Given the description of an element on the screen output the (x, y) to click on. 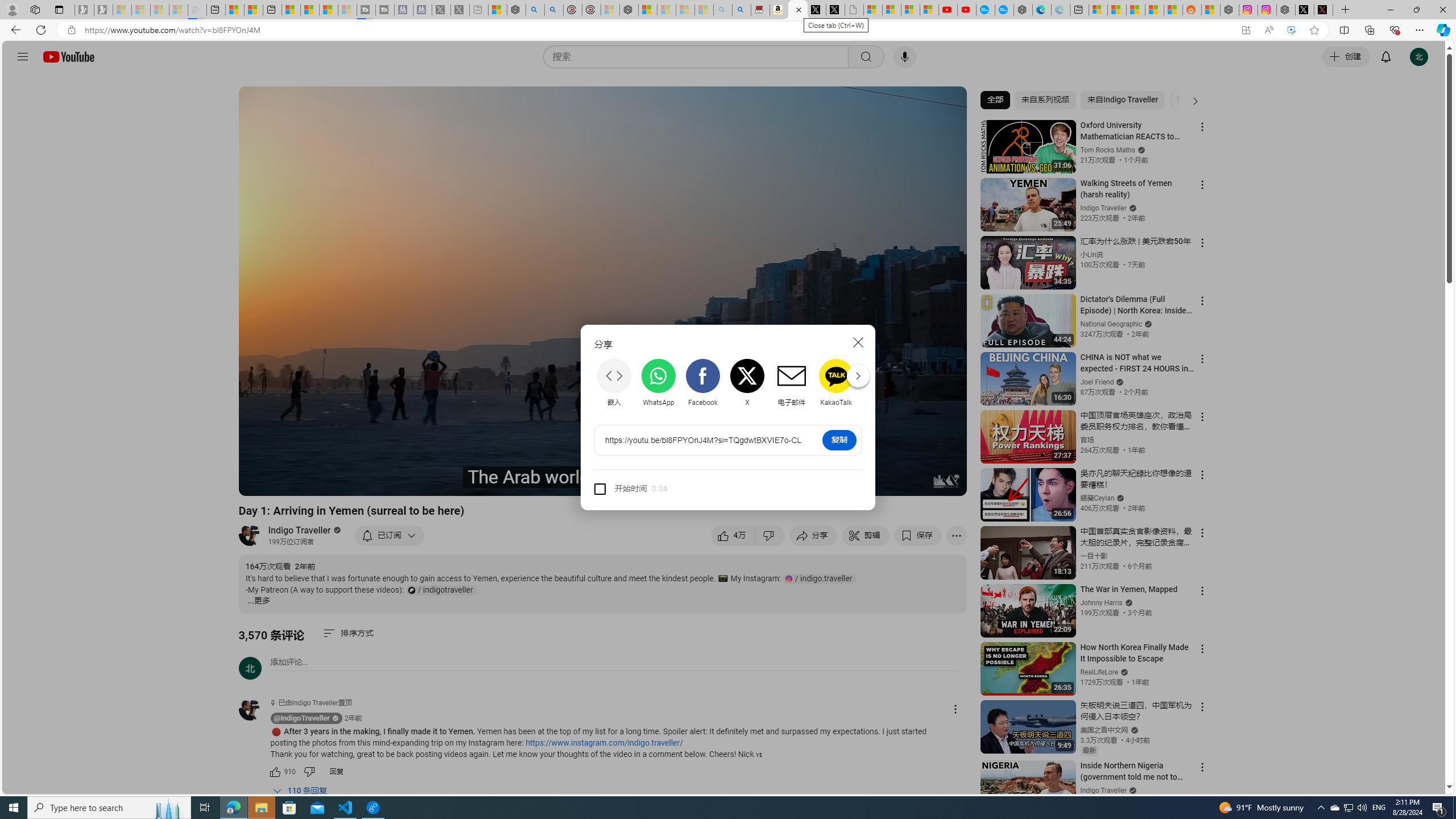
Reddit (879, 383)
Intro (388, 482)
AutomationID: simplebox-placeholder (288, 662)
